Given the description of an element on the screen output the (x, y) to click on. 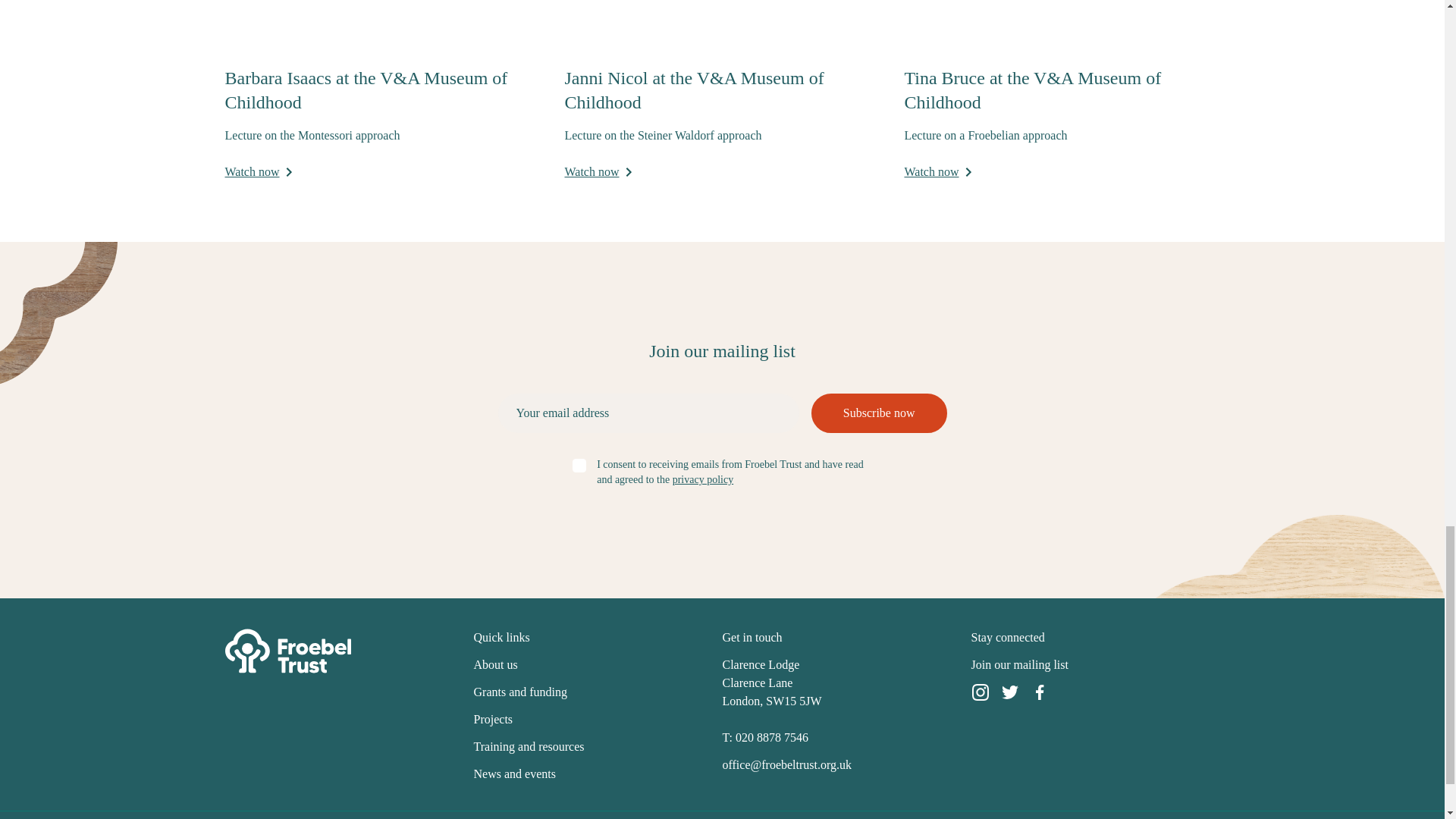
Read more of Watch now (937, 171)
Read more of Watch now (258, 171)
Read more of Watch now (597, 171)
Subscribe now (878, 413)
